Given the description of an element on the screen output the (x, y) to click on. 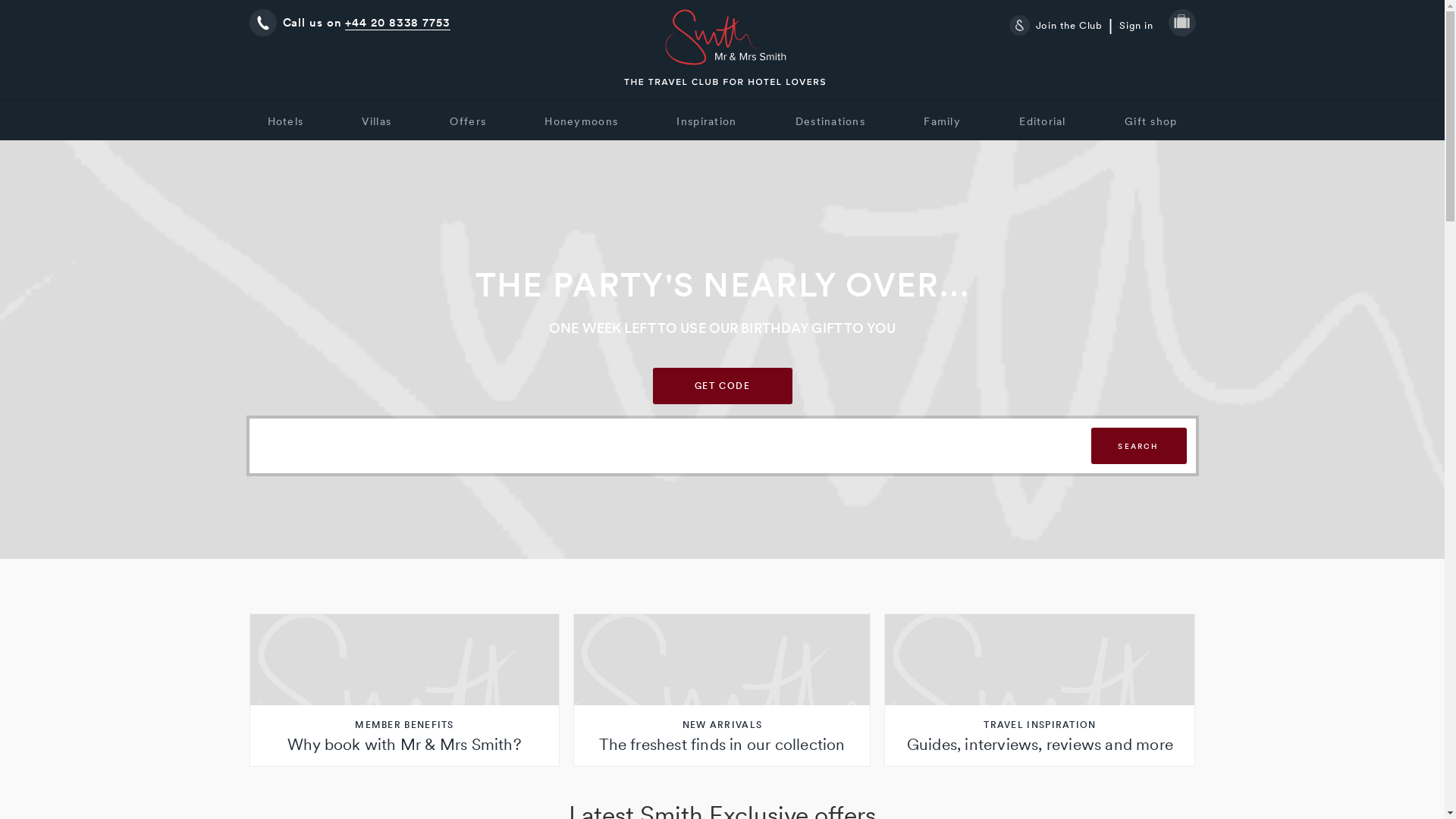
+44 20 8338 7753 Element type: text (397, 22)
TRAVEL INSPIRATION
Guides, interviews, reviews and more Element type: text (1039, 689)
Gift shop Element type: text (1150, 121)
Destinations Element type: text (830, 121)
Family Element type: text (941, 121)
NEW ARRIVALS
The freshest finds in our collection Element type: text (721, 689)
Honeymoons Element type: text (581, 121)
Inspiration Element type: text (706, 121)
Go to Mr & Mrs Smith homepage Element type: hover (724, 50)
Join the Club Element type: text (1061, 25)
SEARCH Element type: text (1138, 445)
Hotels Element type: text (284, 121)
MEMBER BENEFITS
Why book with Mr & Mrs Smith? Element type: text (403, 689)
Villas Element type: text (376, 121)
Sign in Element type: text (1136, 25)
Editorial Element type: text (1042, 121)
Offers Element type: text (467, 121)
